Given the description of an element on the screen output the (x, y) to click on. 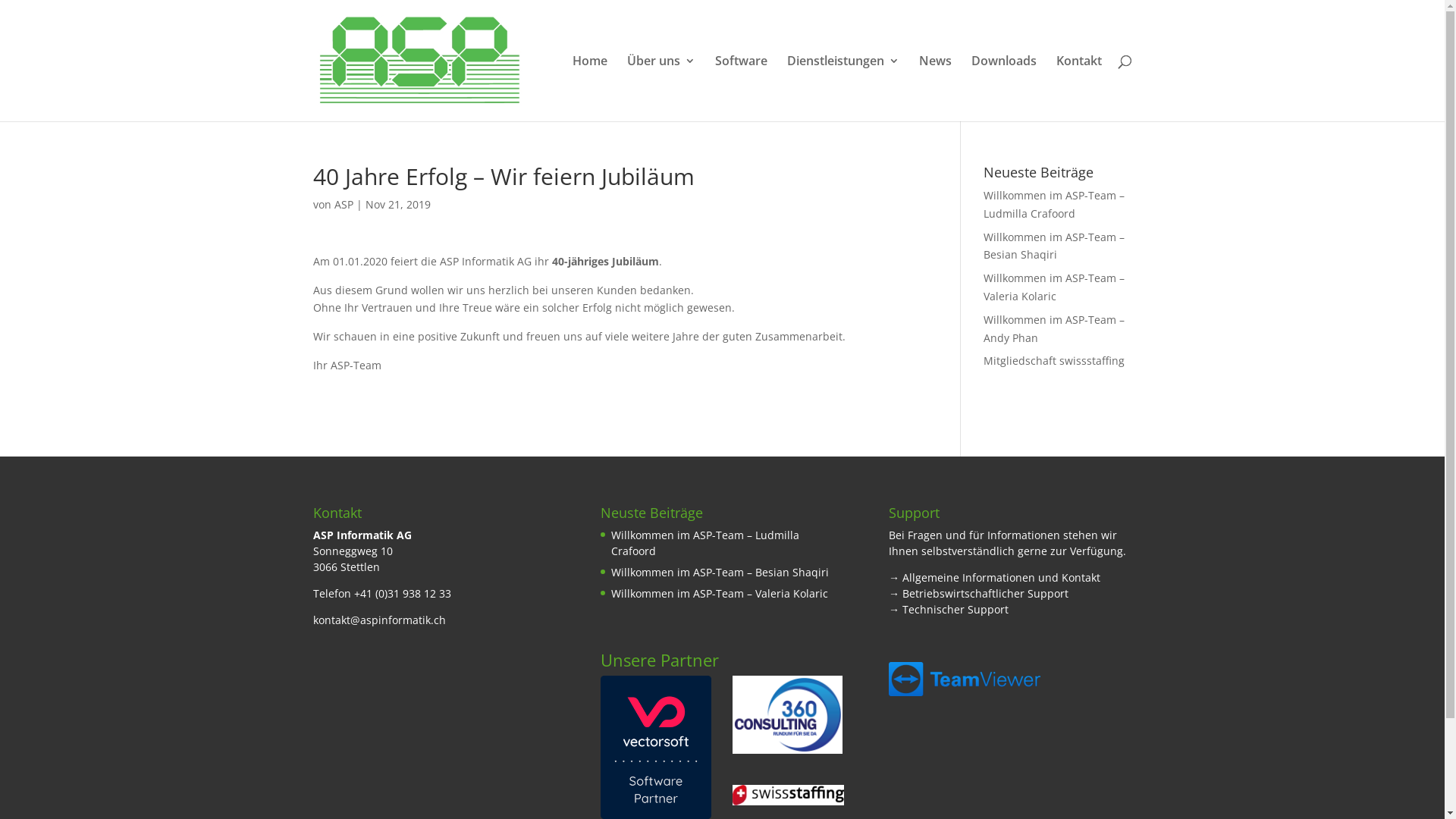
ASP Element type: text (342, 204)
Mitgliedschaft swissstaffing Element type: text (1053, 360)
Downloads Element type: text (1002, 88)
Kontakt Element type: text (1078, 88)
Software Element type: text (740, 88)
Dienstleistungen Element type: text (843, 88)
kontakt@aspinformatik.ch Element type: text (378, 619)
News Element type: text (935, 88)
Home Element type: text (588, 88)
